Given the description of an element on the screen output the (x, y) to click on. 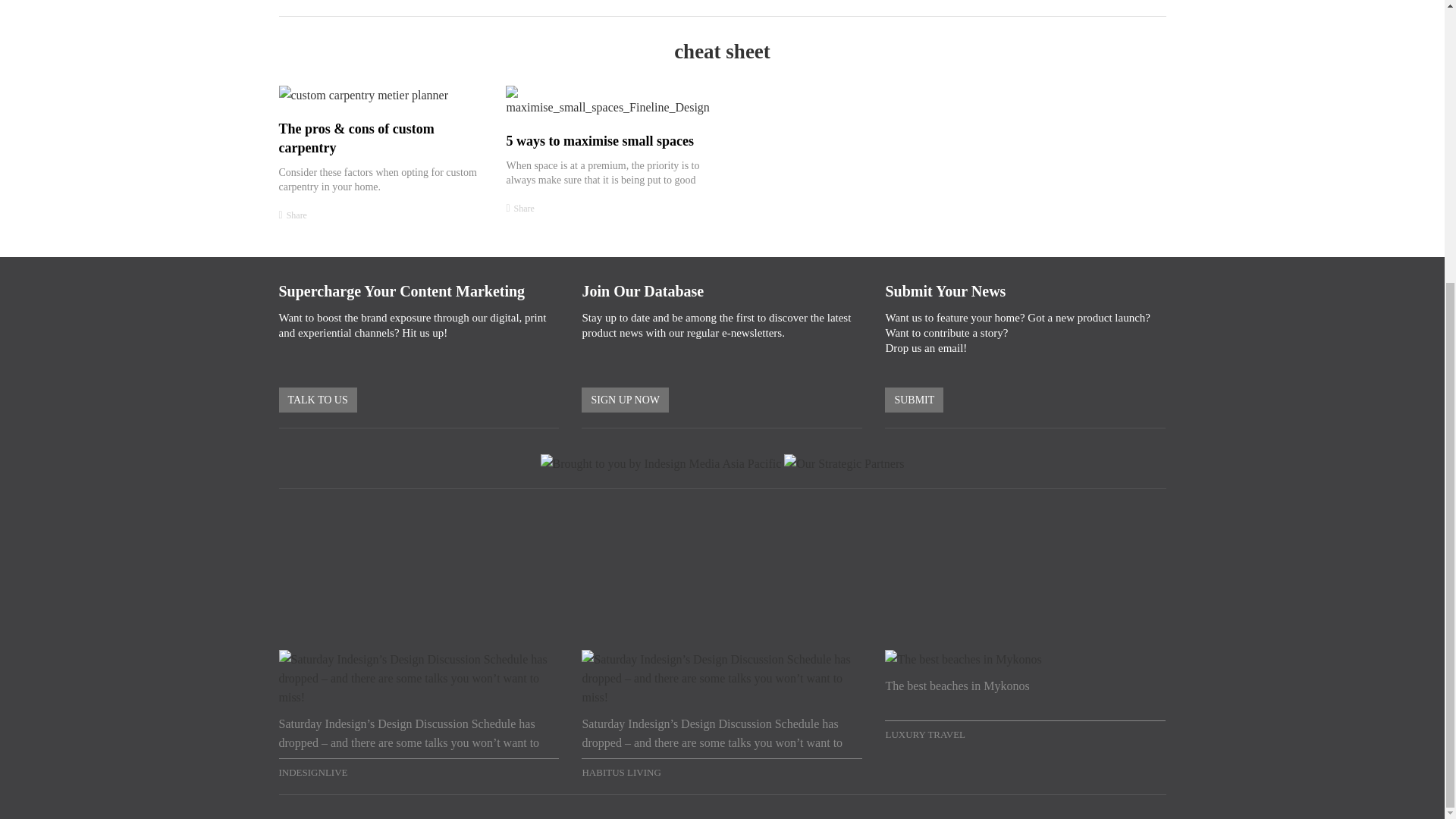
SIGN UP NOW (624, 399)
TALK TO US (317, 399)
Brought to you by Indesign Media Asia Pacific (660, 463)
SUBMIT (914, 399)
Our Strategic Partners (844, 463)
INDESIGNLIVE (419, 770)
5 ways to maximise small spaces (599, 140)
The best beaches in Mykonos (1025, 697)
